Given the description of an element on the screen output the (x, y) to click on. 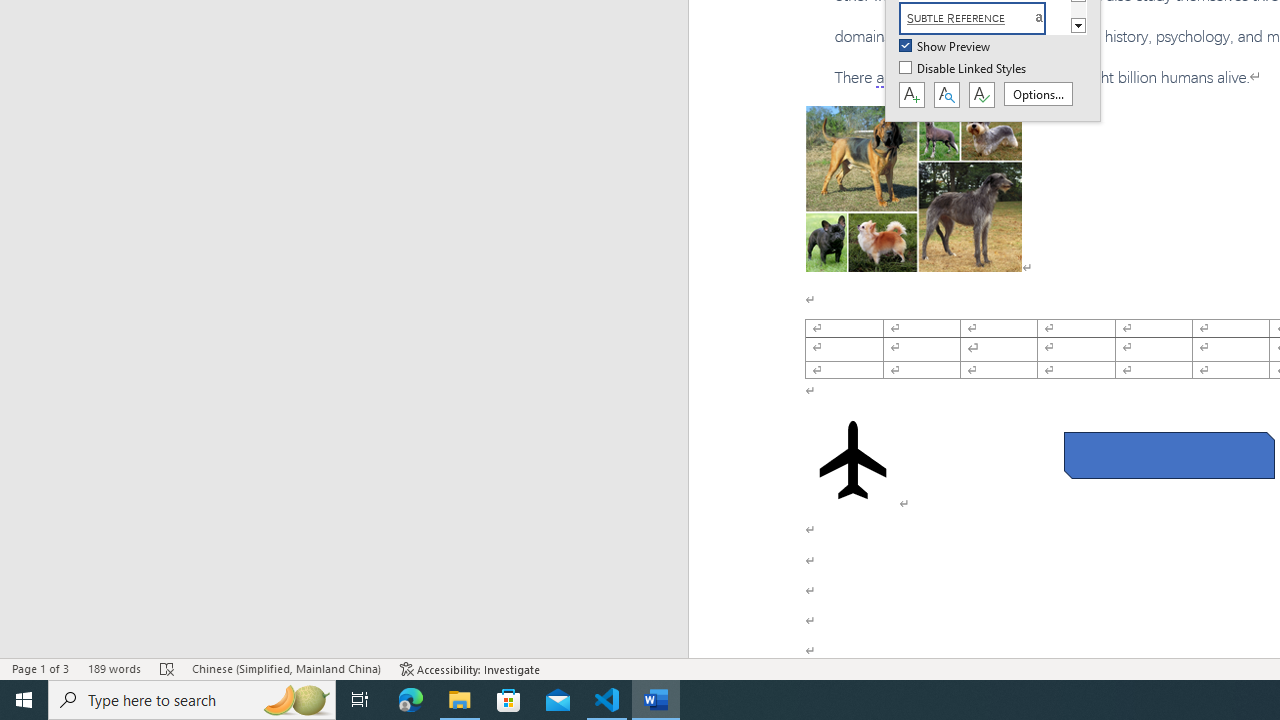
Airplane with solid fill (852, 459)
Page Number Page 1 of 3 (39, 668)
Show Preview (946, 47)
Language Chinese (Simplified, Mainland China) (286, 668)
Disable Linked Styles (964, 69)
Spelling and Grammar Check Errors (168, 668)
Options... (1037, 93)
Morphological variation in six dogs (913, 188)
Rectangle: Diagonal Corners Snipped 2 (1168, 455)
Class: NetUIButton (981, 95)
Subtle Reference (984, 18)
Accessibility Checker Accessibility: Investigate (470, 668)
